Given the description of an element on the screen output the (x, y) to click on. 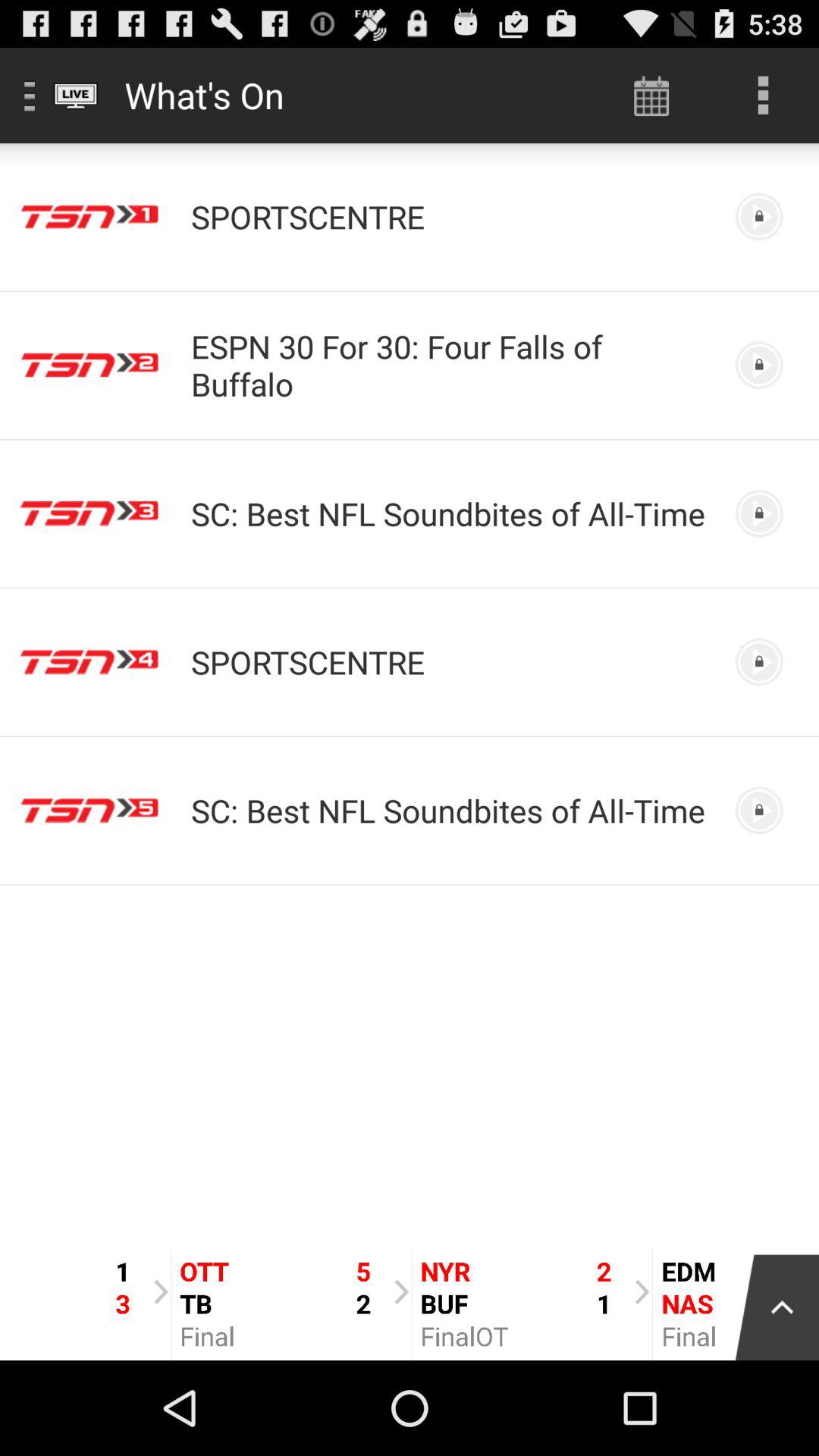
turn off the icon to the right of what's on app (651, 95)
